Given the description of an element on the screen output the (x, y) to click on. 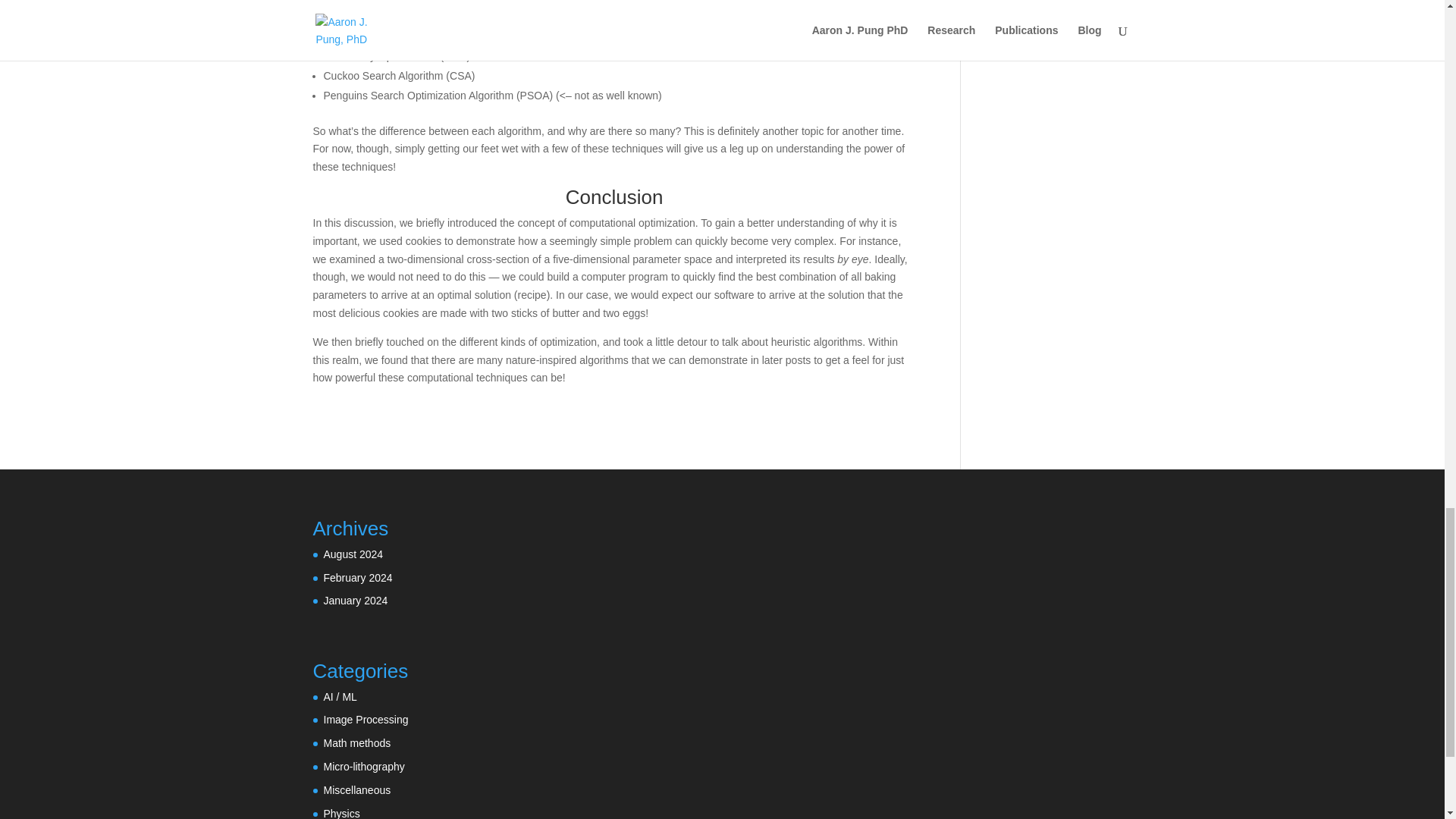
August 2024 (352, 553)
Math methods (356, 743)
February 2024 (357, 577)
Miscellaneous (356, 789)
Micro-lithography (363, 766)
January 2024 (355, 600)
Physics (341, 813)
Image Processing (365, 719)
